Given the description of an element on the screen output the (x, y) to click on. 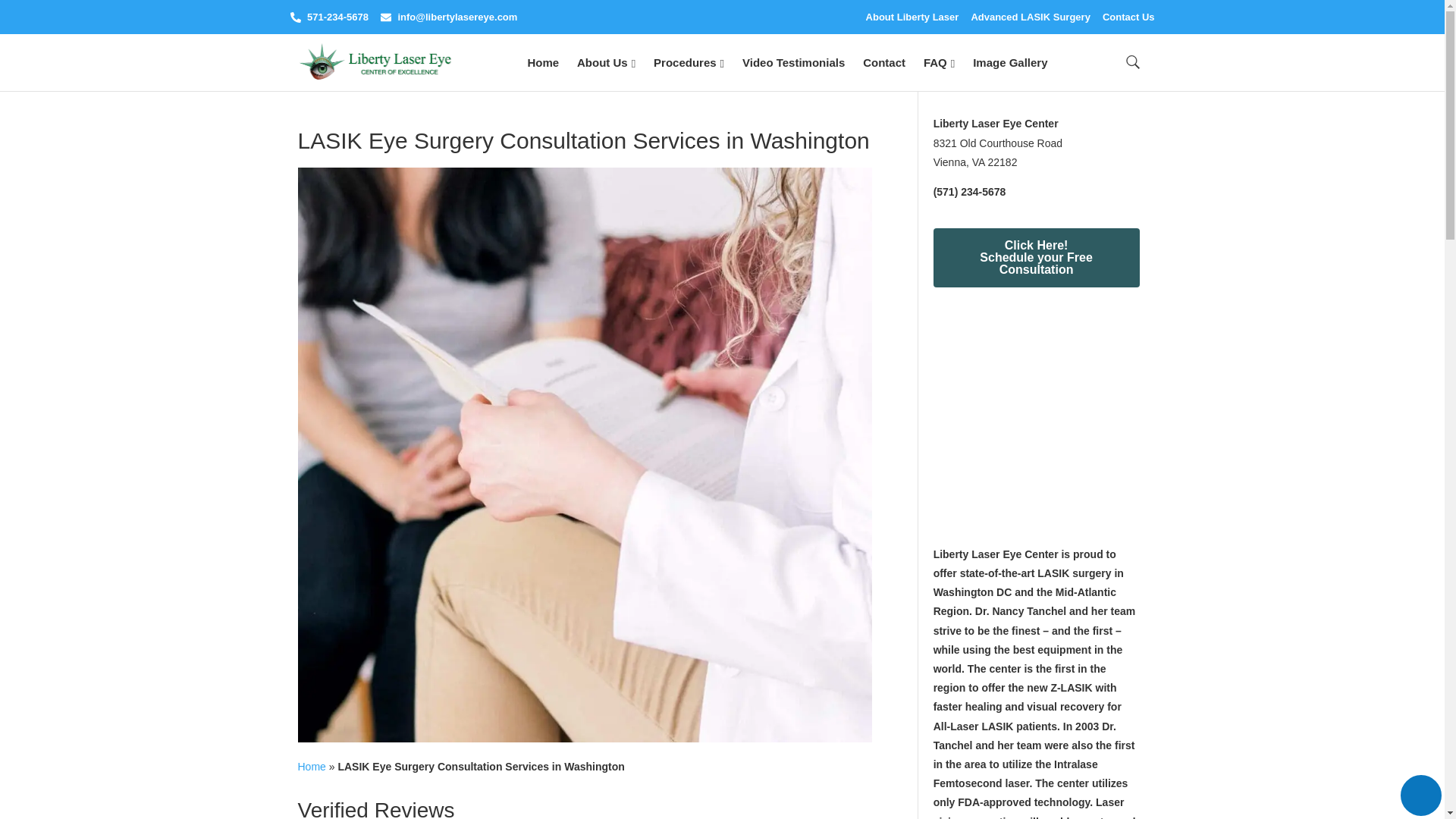
Image Gallery (1010, 62)
About Us (606, 62)
Video Testimonials (793, 62)
Home (542, 62)
571-234-5678 (328, 16)
About Liberty Laser (912, 16)
Procedures (688, 62)
Contact Us (1128, 16)
Home (542, 62)
Contact (883, 62)
About Us (606, 62)
Advanced LASIK Surgery (1030, 16)
Procedures (688, 62)
FAQ (939, 62)
